Given the description of an element on the screen output the (x, y) to click on. 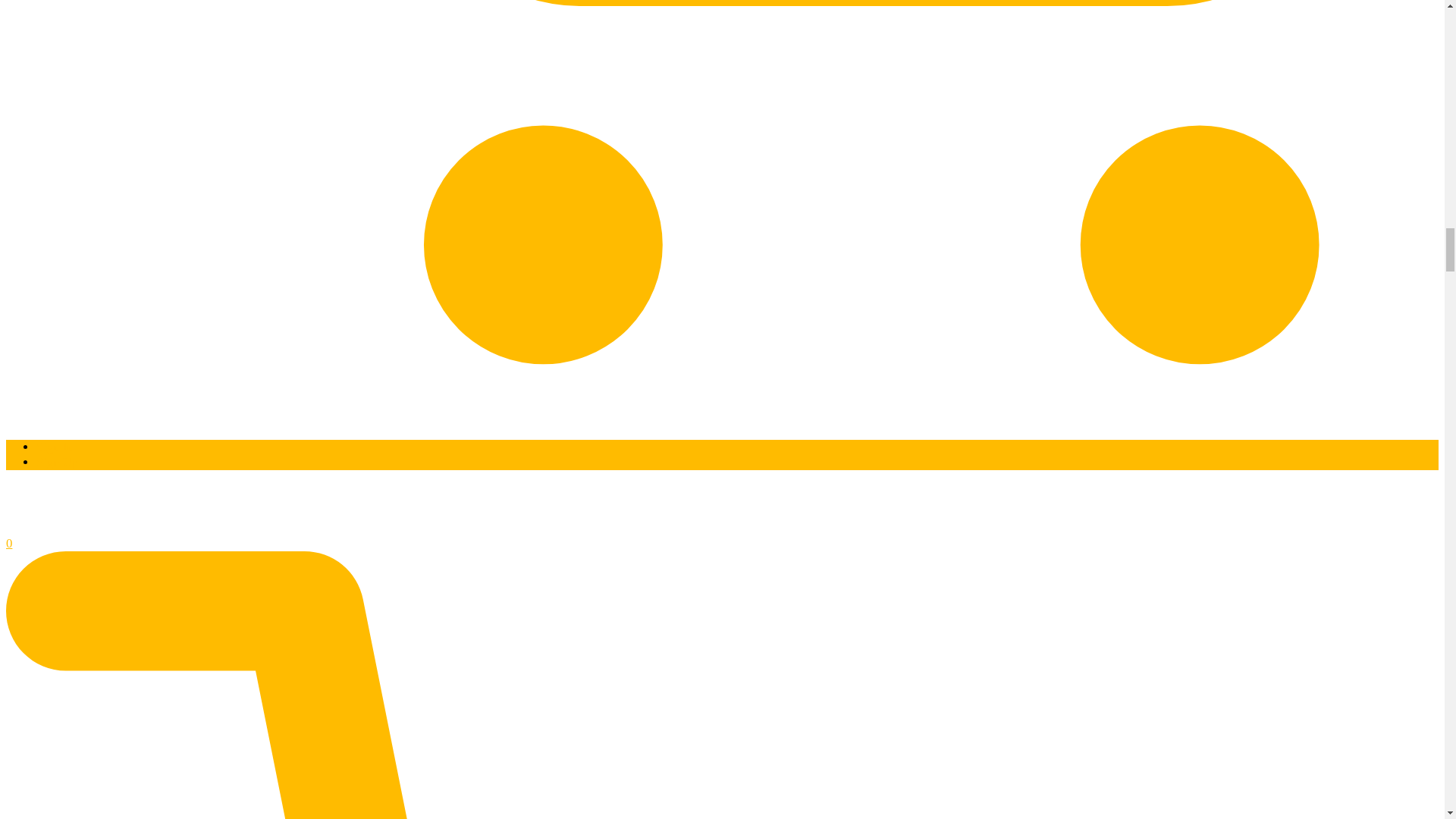
Sign In (55, 446)
Sign Up (57, 462)
